Given the description of an element on the screen output the (x, y) to click on. 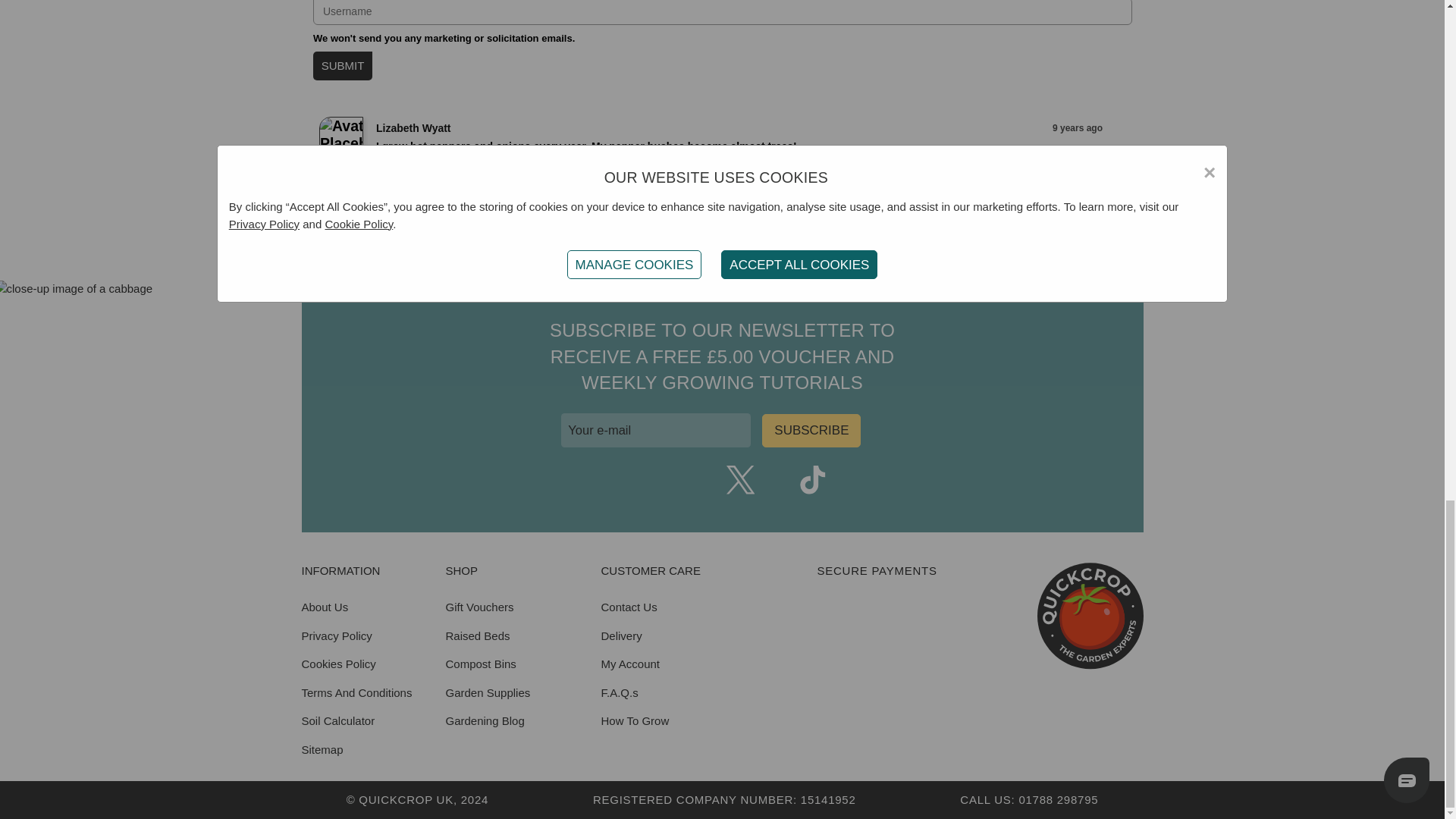
pinterest link (775, 480)
instagram link (667, 480)
x link (740, 480)
facebook link (631, 480)
Subscribe (810, 430)
youtube link (704, 480)
tiktok link (812, 480)
